Given the description of an element on the screen output the (x, y) to click on. 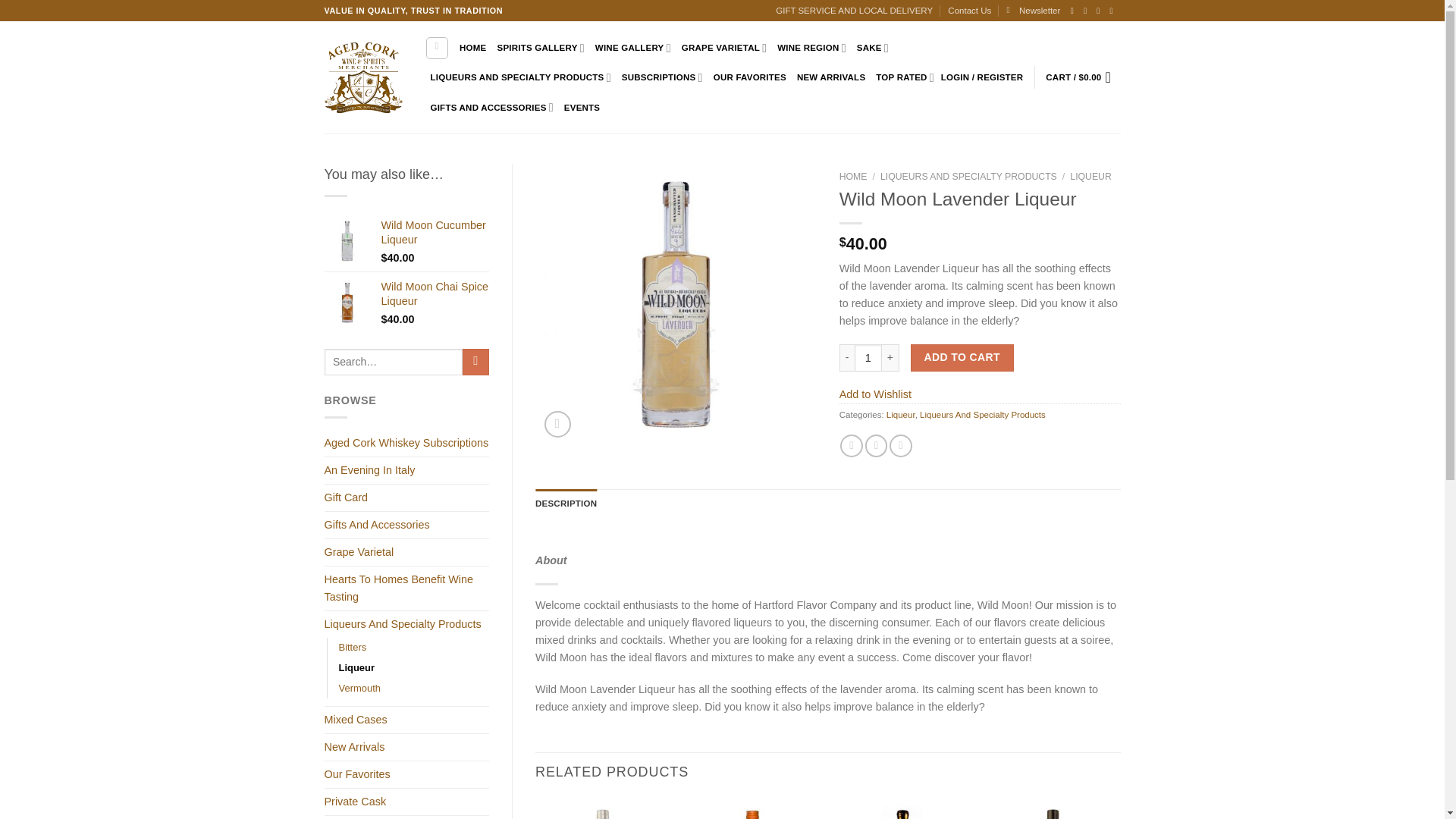
Wild Moon Chai Spice Liqueur (346, 302)
Sign up for Newsletter (1032, 10)
GIFT SERVICE AND LOCAL DELIVERY (854, 10)
Contact Us (969, 10)
Wild Moon Cucumber Liqueur (434, 232)
Wild Moon Cucumber Liqueur (346, 240)
Login (981, 76)
Wild Moon Chai Spice Liqueur (434, 293)
1 (868, 357)
